Given the description of an element on the screen output the (x, y) to click on. 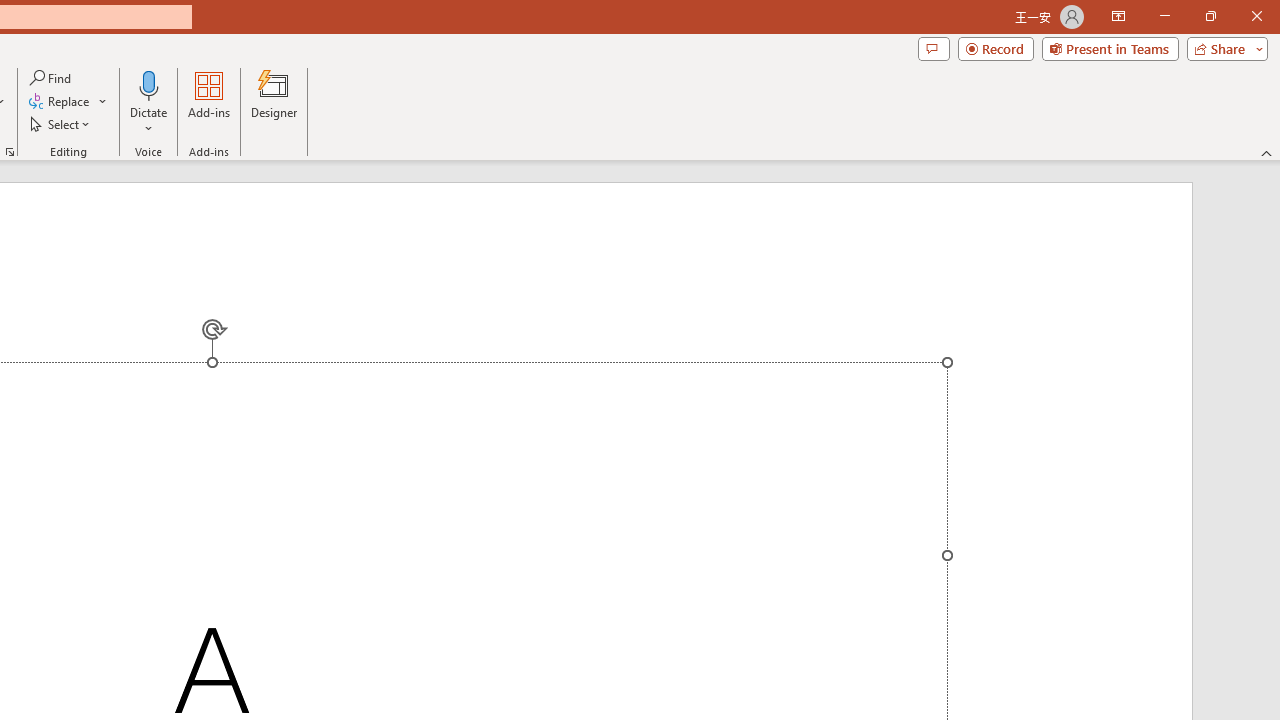
Select (61, 124)
Record (995, 48)
Minimize (1164, 16)
Replace... (60, 101)
More Options (149, 121)
Format Object... (9, 151)
Dictate (149, 84)
Ribbon Display Options (1118, 16)
Dictate (149, 102)
Present in Teams (1109, 48)
Collapse the Ribbon (1267, 152)
Close (1256, 16)
Comments (933, 48)
Share (1223, 48)
